Given the description of an element on the screen output the (x, y) to click on. 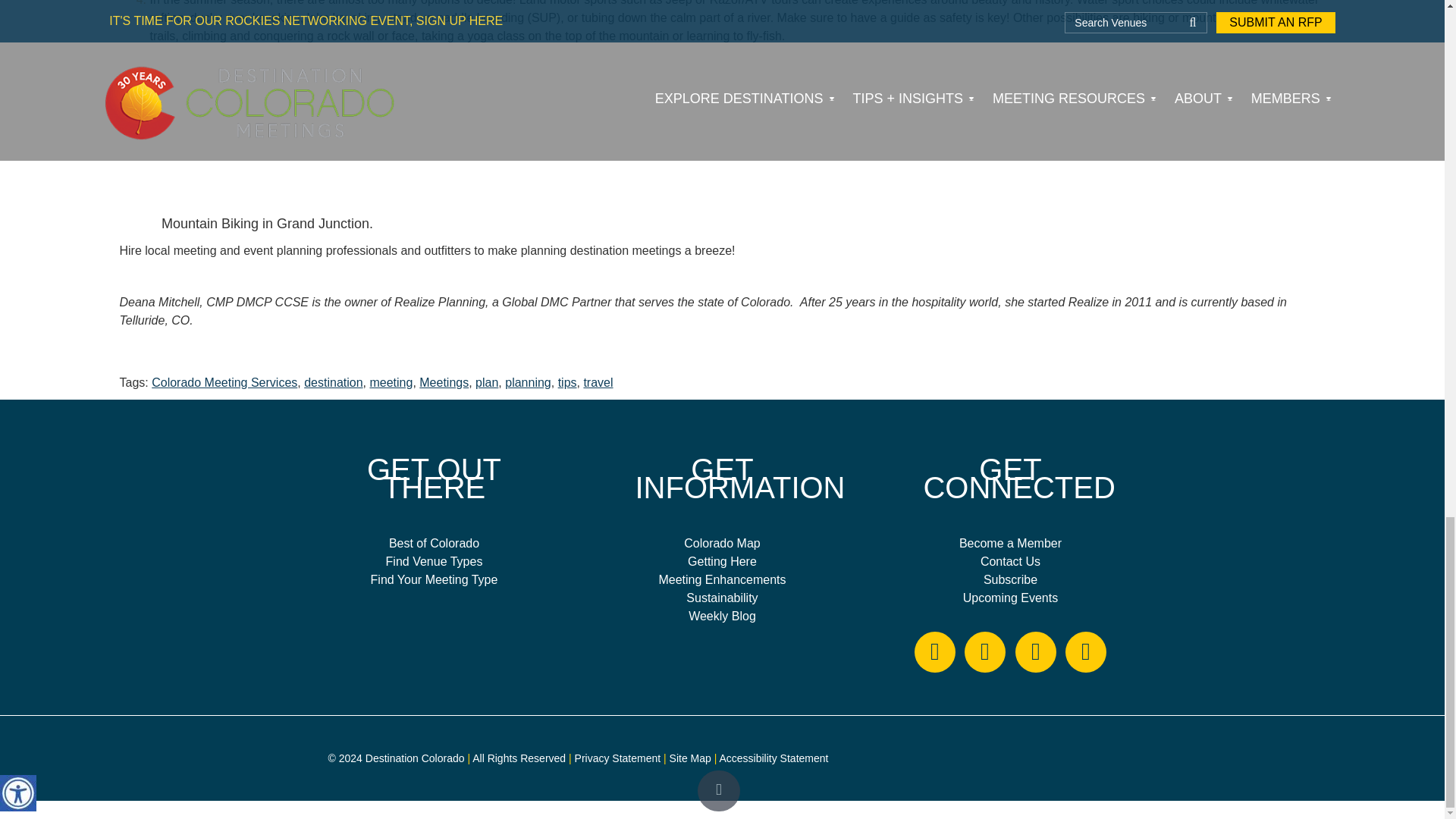
Colorado Meeting Services (224, 382)
